Given the description of an element on the screen output the (x, y) to click on. 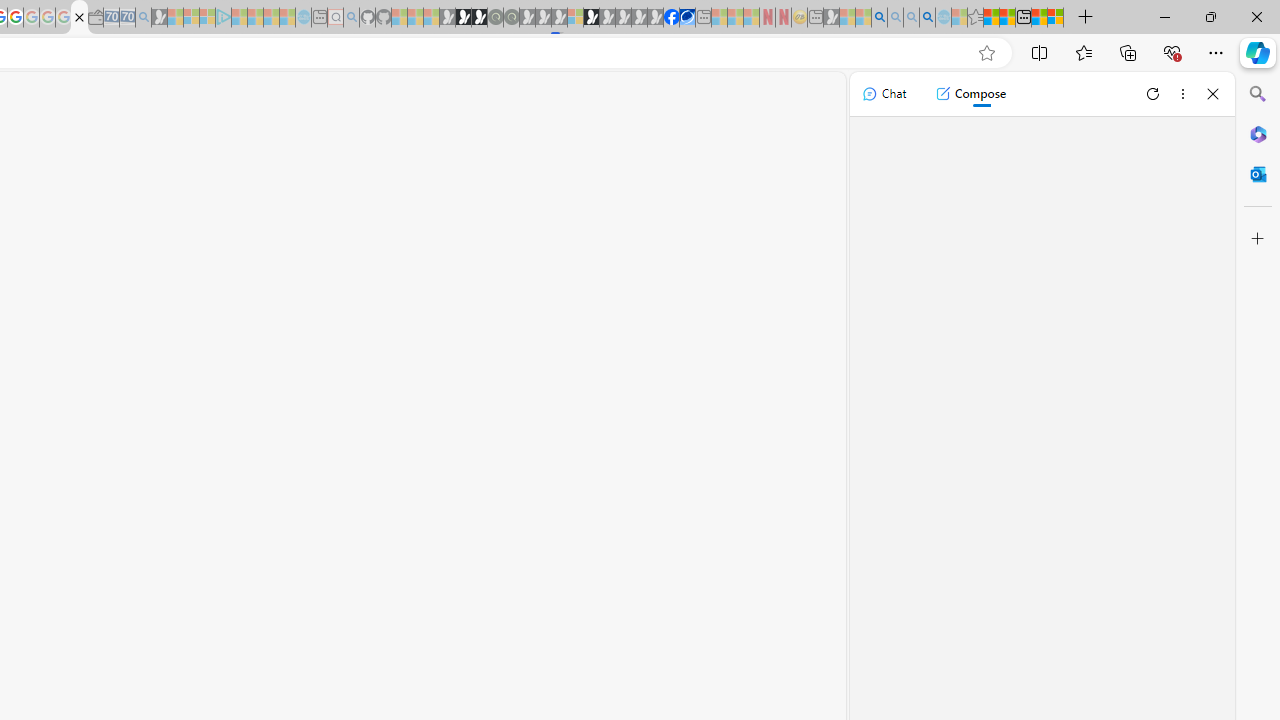
AirNow.gov (687, 17)
